Given the description of an element on the screen output the (x, y) to click on. 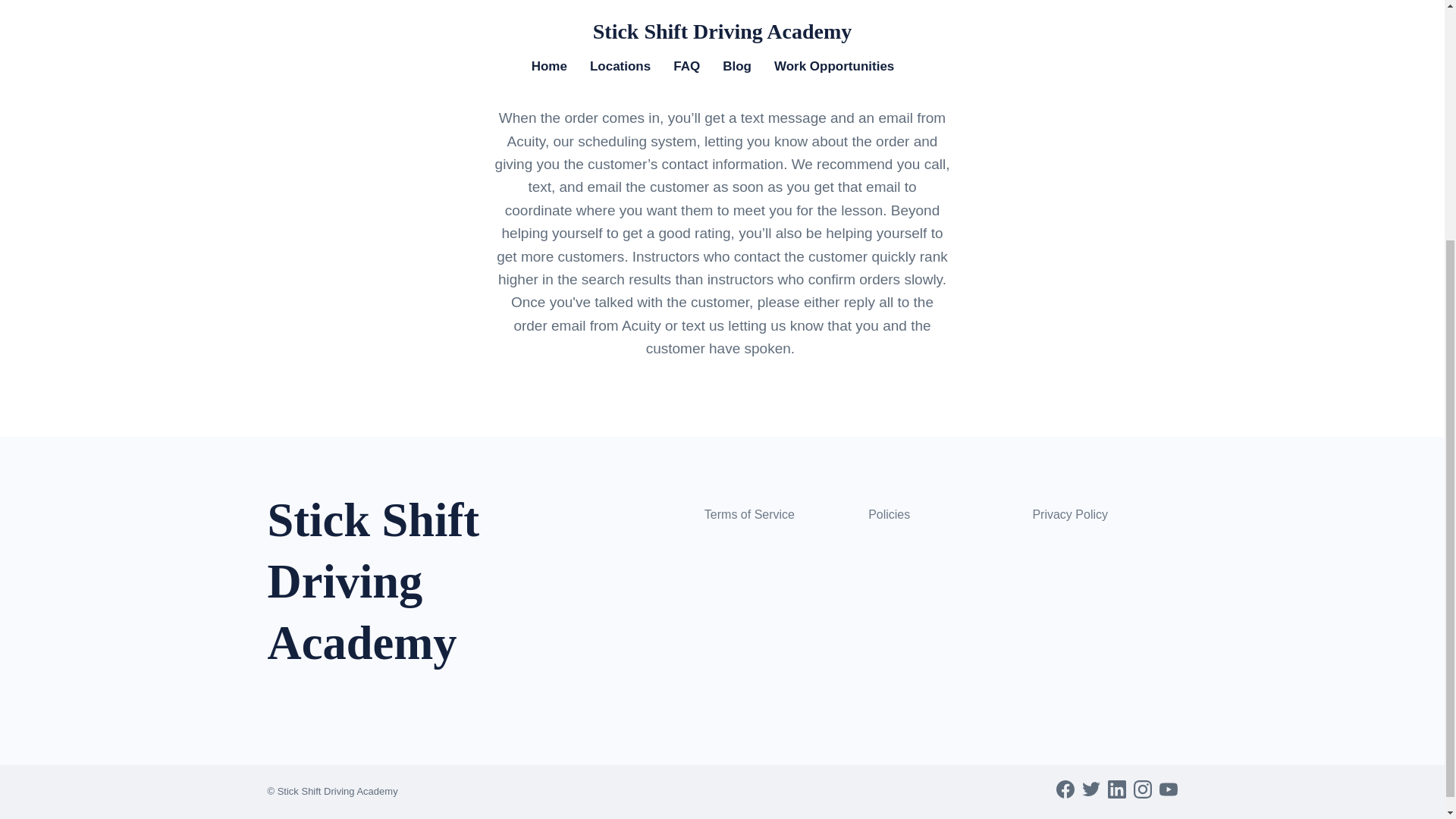
Terms of Service (749, 513)
Stick Shift Driving Academy (403, 597)
Privacy Policy (1070, 513)
Policies (888, 513)
